Given the description of an element on the screen output the (x, y) to click on. 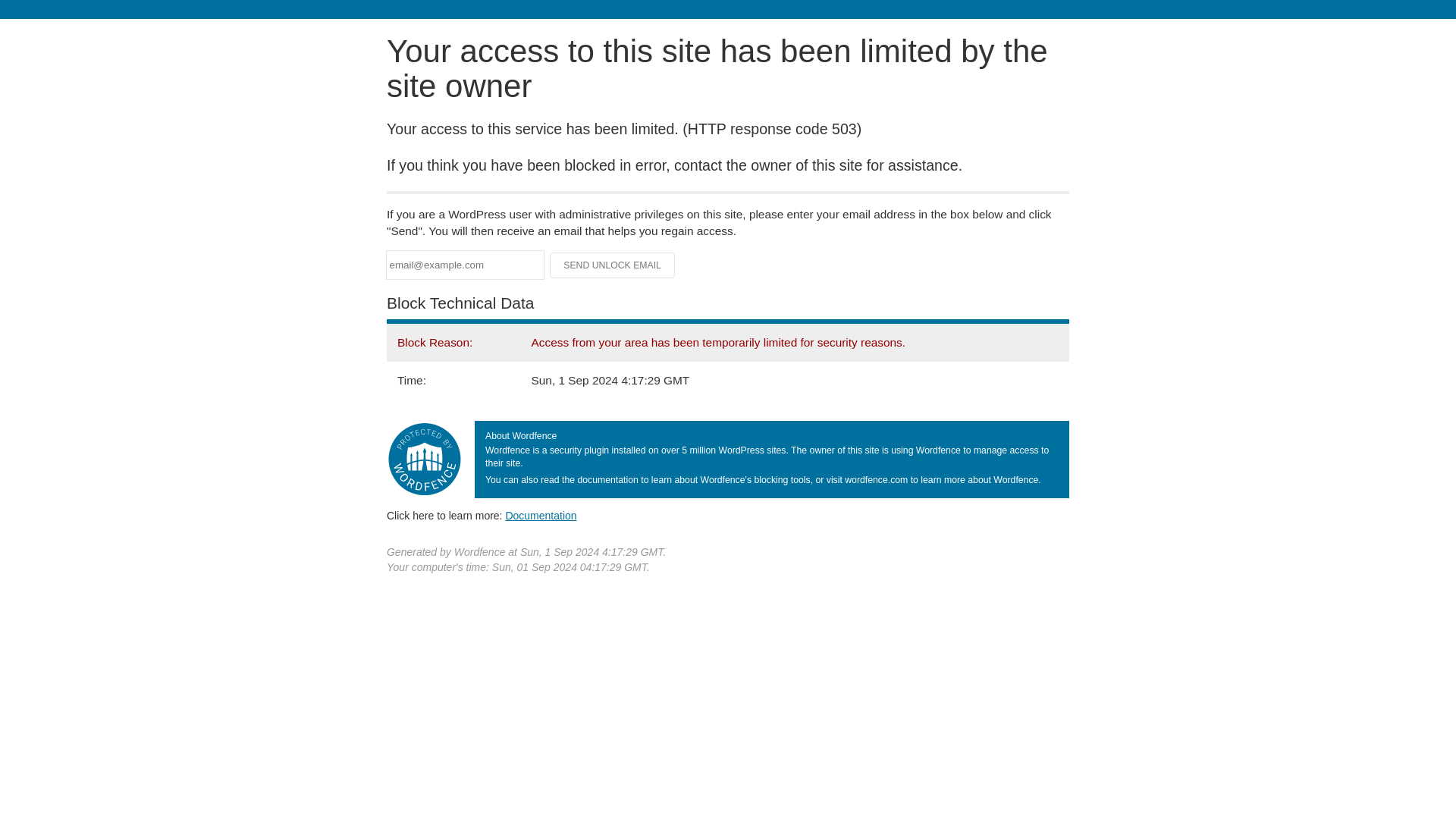
Send Unlock Email (612, 265)
Send Unlock Email (612, 265)
Documentation (540, 515)
